Given the description of an element on the screen output the (x, y) to click on. 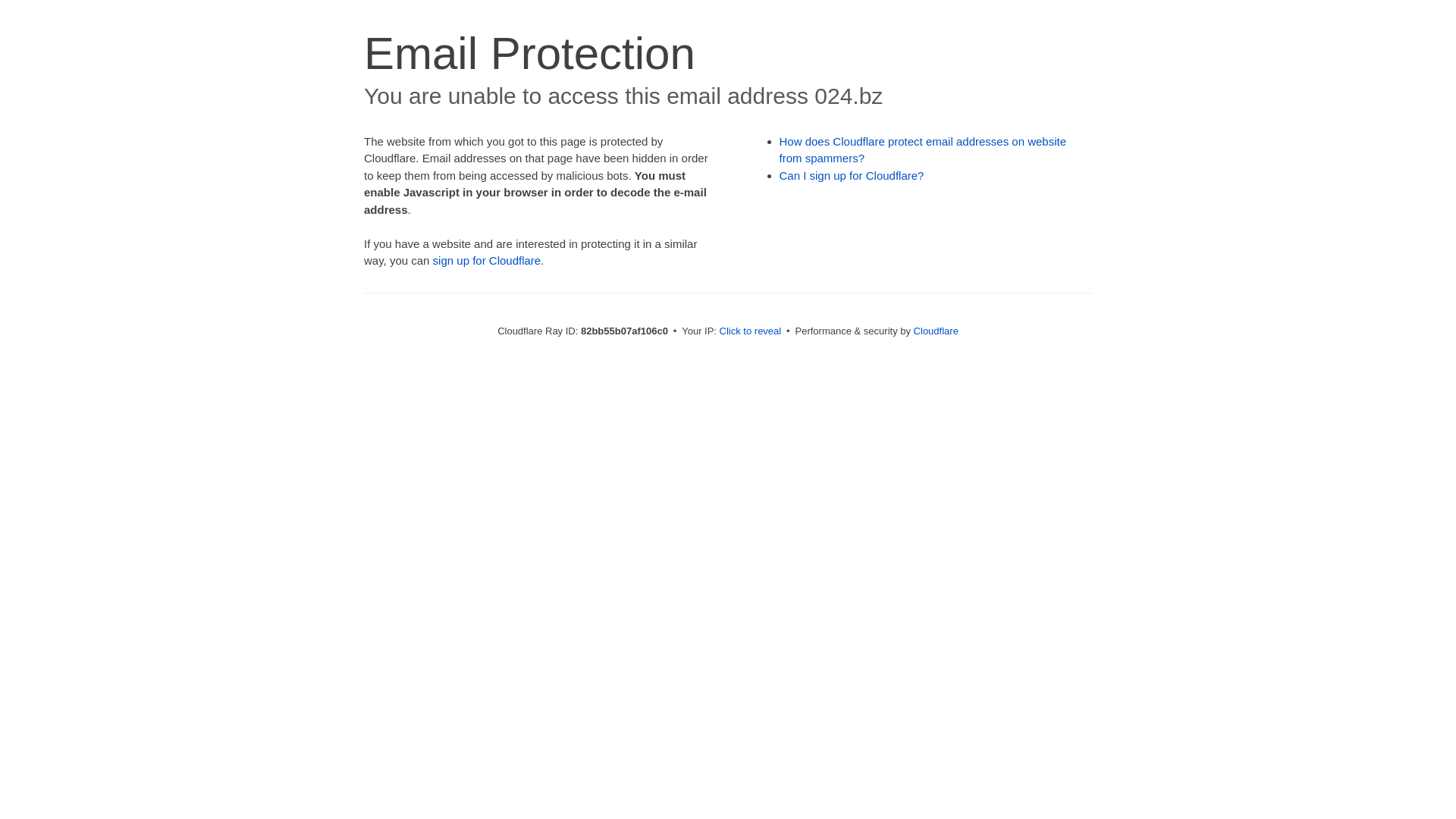
Click to reveal Element type: text (750, 330)
Cloudflare Element type: text (935, 330)
sign up for Cloudflare Element type: text (487, 260)
Can I sign up for Cloudflare? Element type: text (851, 175)
